Given the description of an element on the screen output the (x, y) to click on. 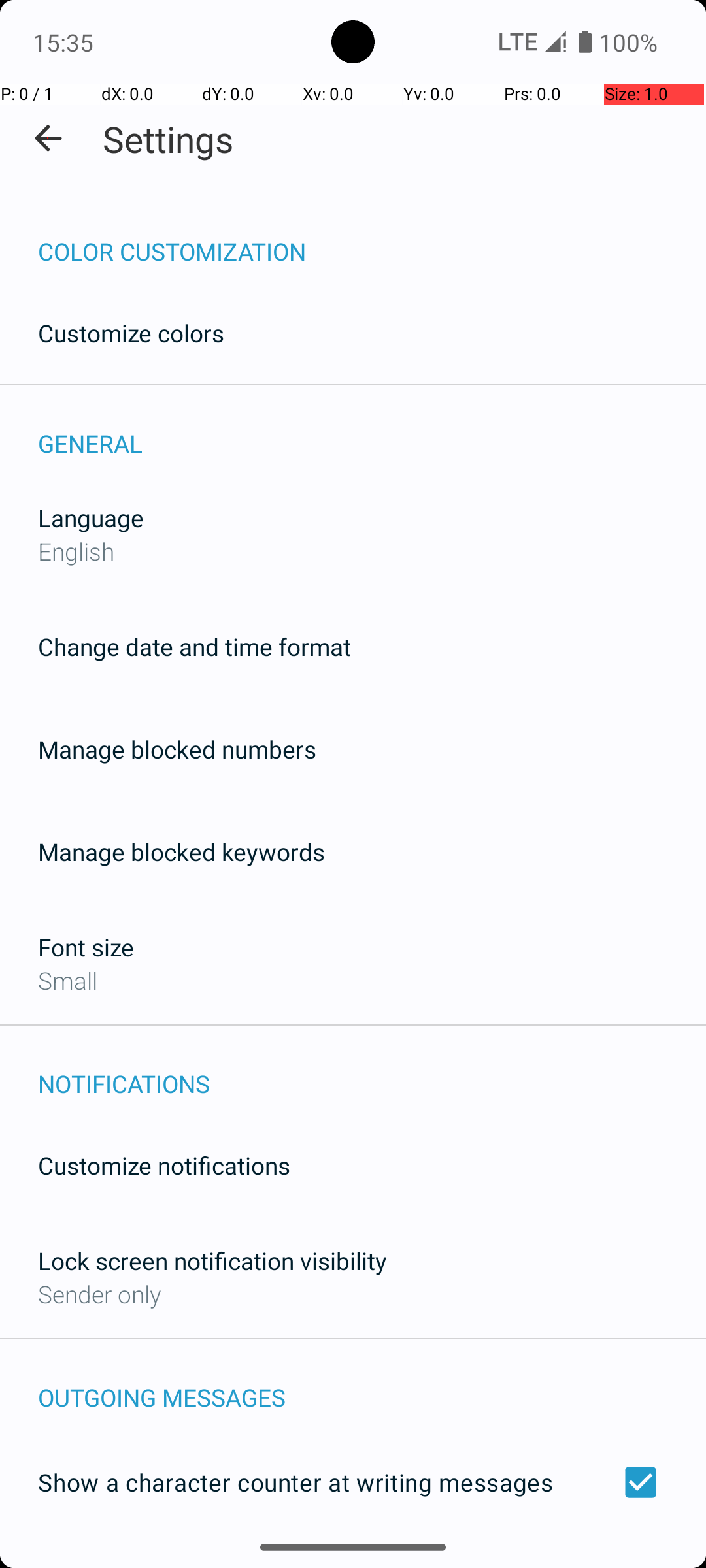
NOTIFICATIONS Element type: android.widget.TextView (371, 1069)
OUTGOING MESSAGES Element type: android.widget.TextView (371, 1383)
Change date and time format Element type: android.widget.TextView (194, 646)
Manage blocked numbers Element type: android.widget.TextView (176, 748)
Manage blocked keywords Element type: android.widget.TextView (180, 851)
Font size Element type: android.widget.TextView (85, 946)
Small Element type: android.widget.TextView (67, 979)
Lock screen notification visibility Element type: android.widget.TextView (211, 1260)
Sender only Element type: android.widget.TextView (99, 1293)
Show a character counter at writing messages Element type: android.widget.CheckBox (352, 1482)
Remove accents and diacritics at sending messages Element type: android.widget.CheckBox (352, 1559)
